Given the description of an element on the screen output the (x, y) to click on. 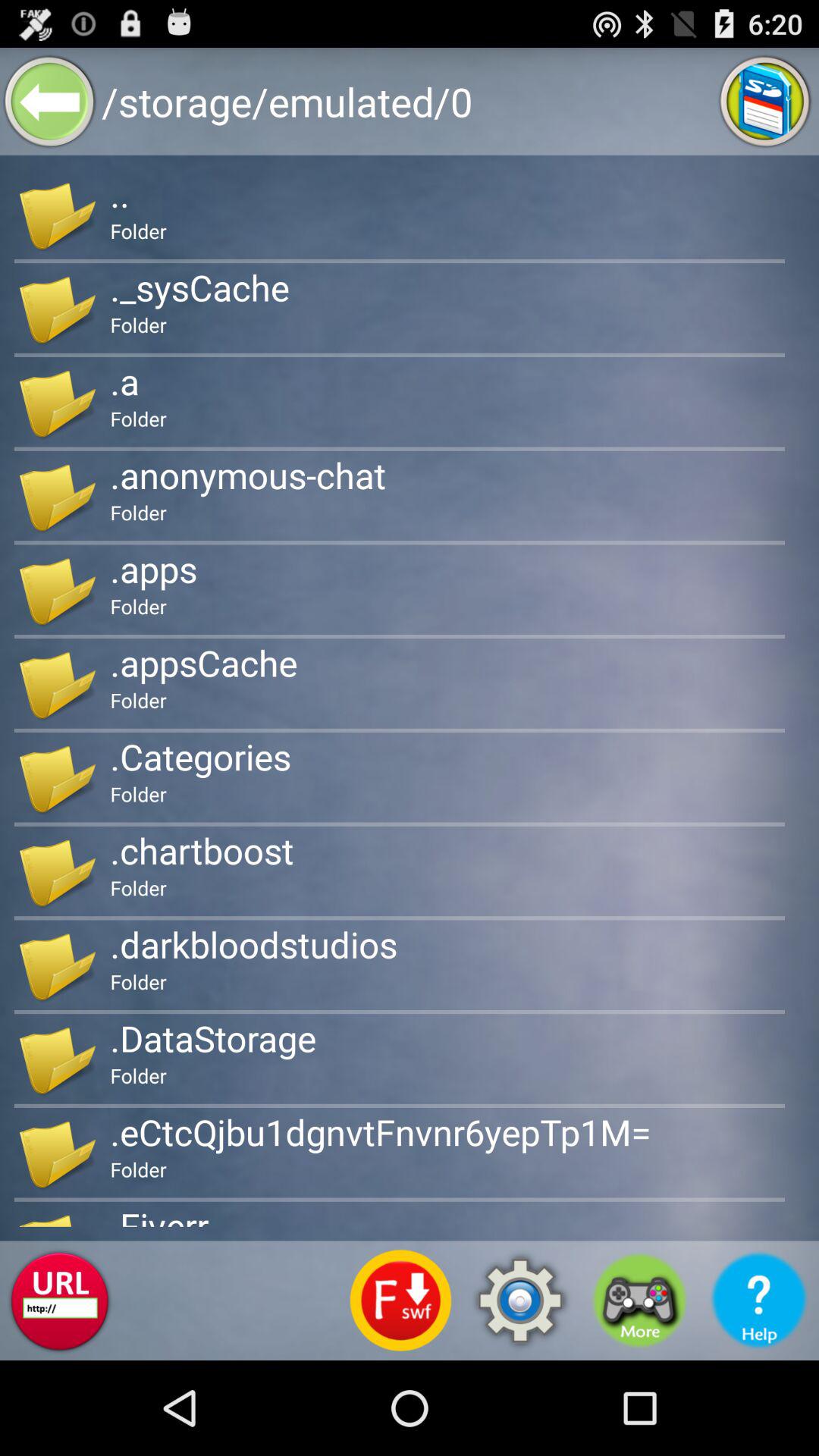
press app above folder app (199, 287)
